Given the description of an element on the screen output the (x, y) to click on. 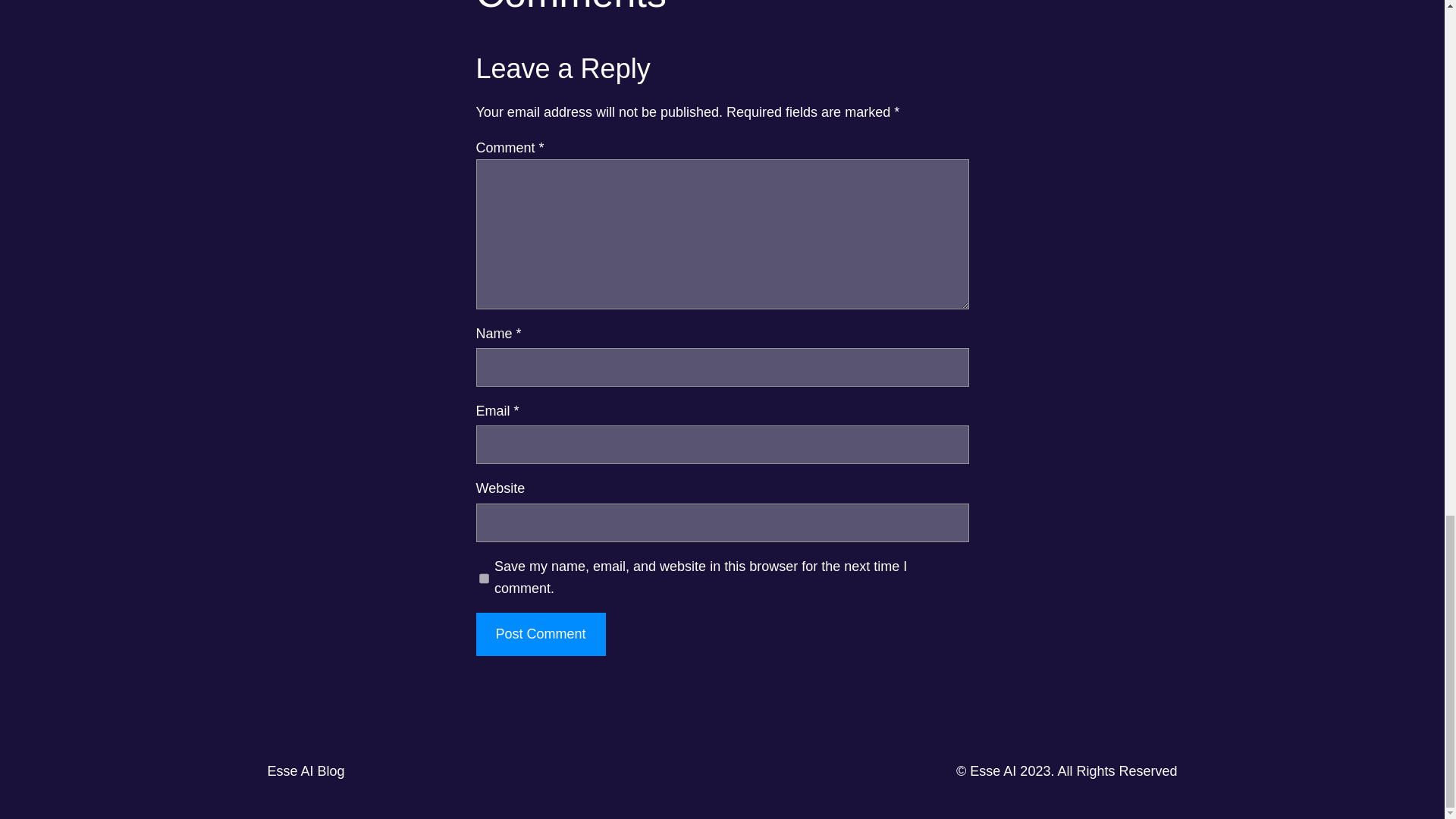
Post Comment (540, 634)
Esse AI Blog (304, 770)
Post Comment (540, 634)
